Given the description of an element on the screen output the (x, y) to click on. 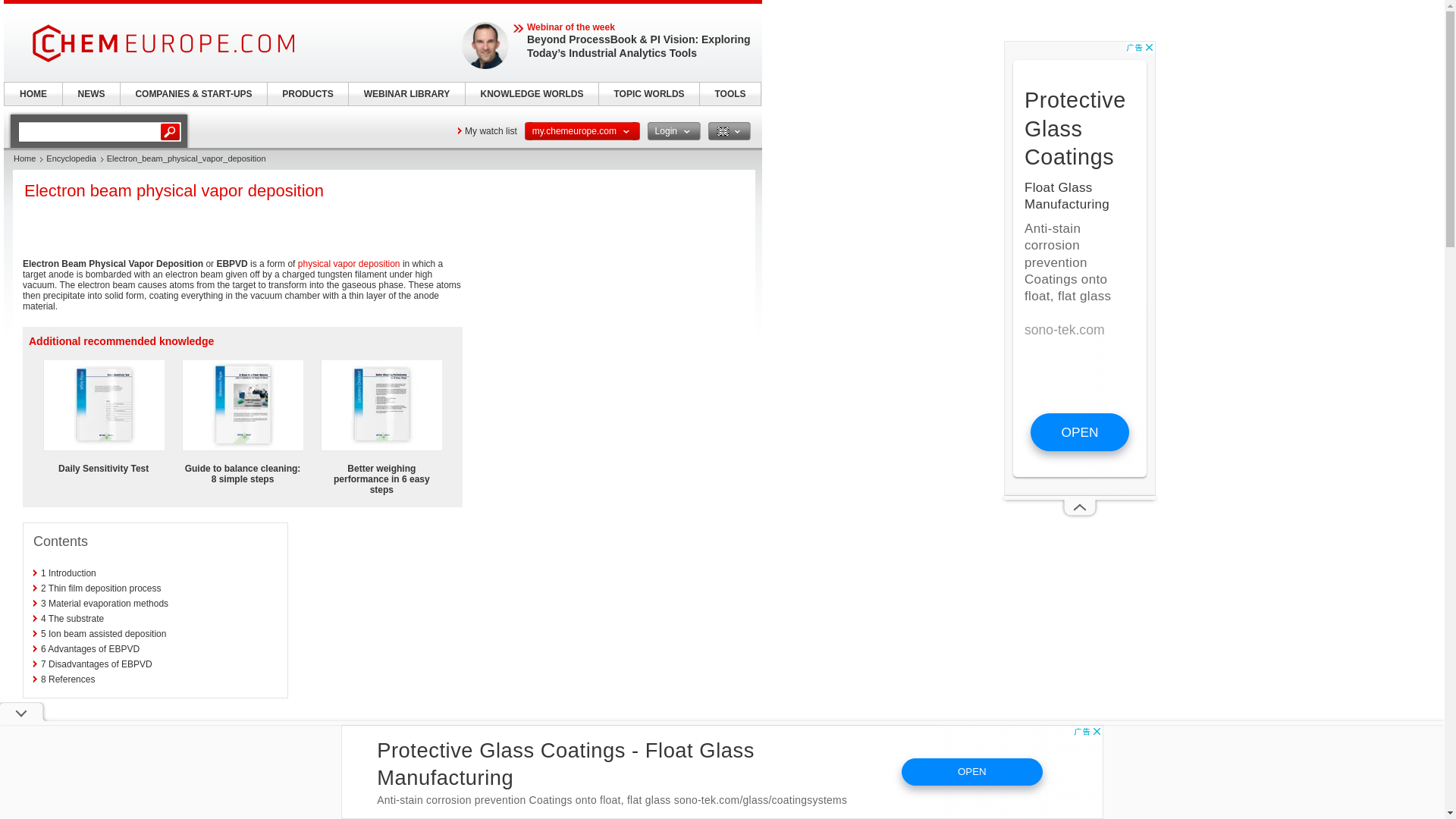
Physical vapor deposition (349, 263)
Better weighing performance in 6 easy steps (381, 479)
Chemical vapor deposition (282, 787)
search (88, 131)
5 Ion beam assisted deposition (102, 633)
Guide to balance cleaning: 8 simple steps (242, 473)
1 Introduction (68, 573)
Daily Sensitivity Test (103, 468)
2 Thin film deposition process (100, 588)
physical vapor deposition (131, 787)
My watch list (487, 131)
Thin film deposition (61, 755)
7 Disadvantages of EBPVD (96, 664)
6 Advantages of EBPVD (89, 648)
semiconductor (240, 755)
